Given the description of an element on the screen output the (x, y) to click on. 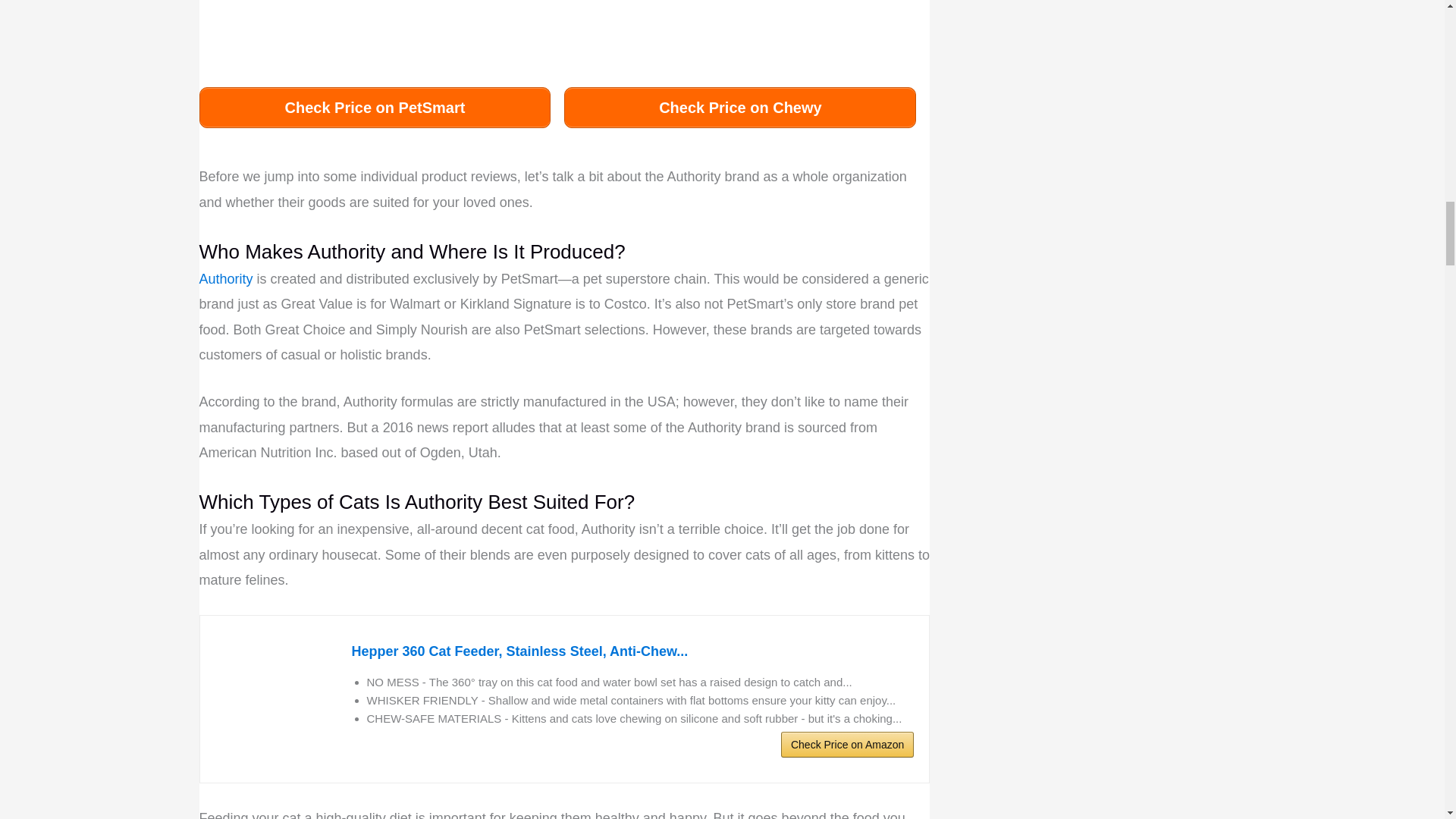
Hepper 360 Cat Feeder, Stainless Steel, Anti-Chew... (633, 651)
Check Price on Amazon (847, 745)
Hepper 360 Cat Feeder, Stainless Steel, Anti-Chew... (275, 698)
